Given the description of an element on the screen output the (x, y) to click on. 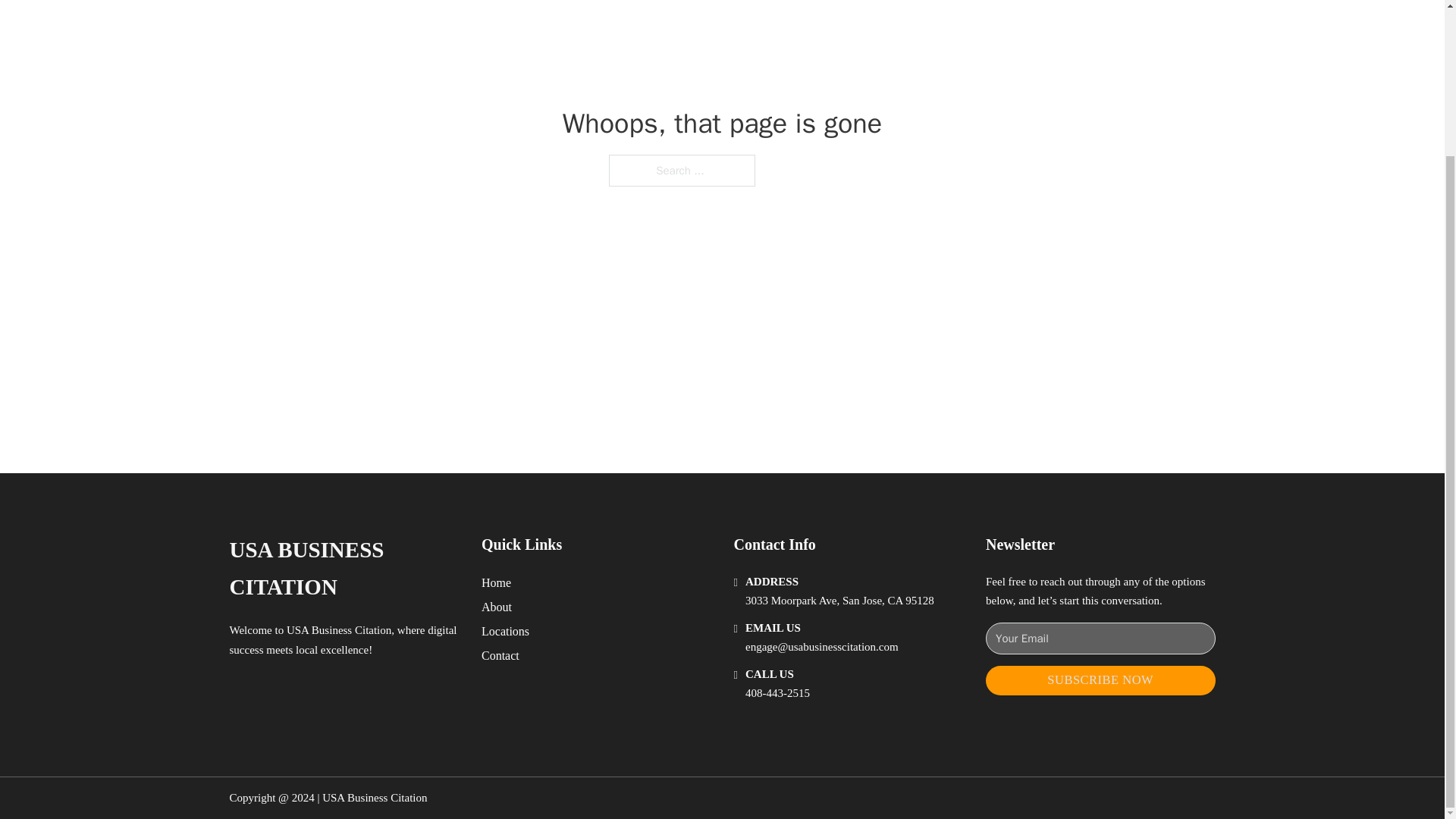
408-443-2515 (777, 693)
Contact (500, 655)
SUBSCRIBE NOW (1100, 680)
Home (496, 582)
About (496, 607)
Locations (505, 630)
USA BUSINESS CITATION (343, 568)
